Given the description of an element on the screen output the (x, y) to click on. 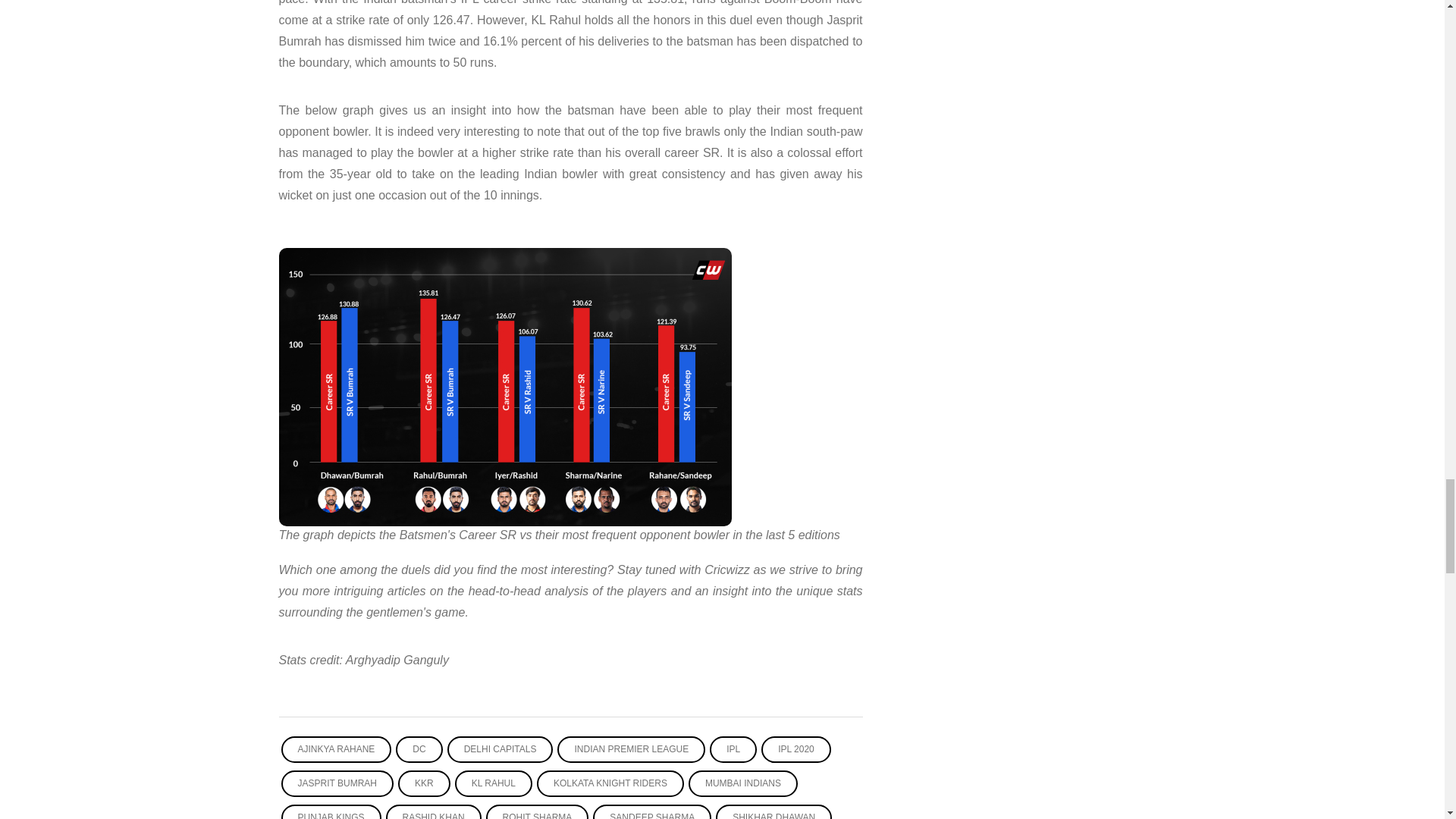
IPL 2020 (796, 749)
AJINKYA RAHANE (336, 749)
DC (419, 749)
DELHI CAPITALS (499, 749)
IPL (733, 749)
INDIAN PREMIER LEAGUE (630, 749)
